Given the description of an element on the screen output the (x, y) to click on. 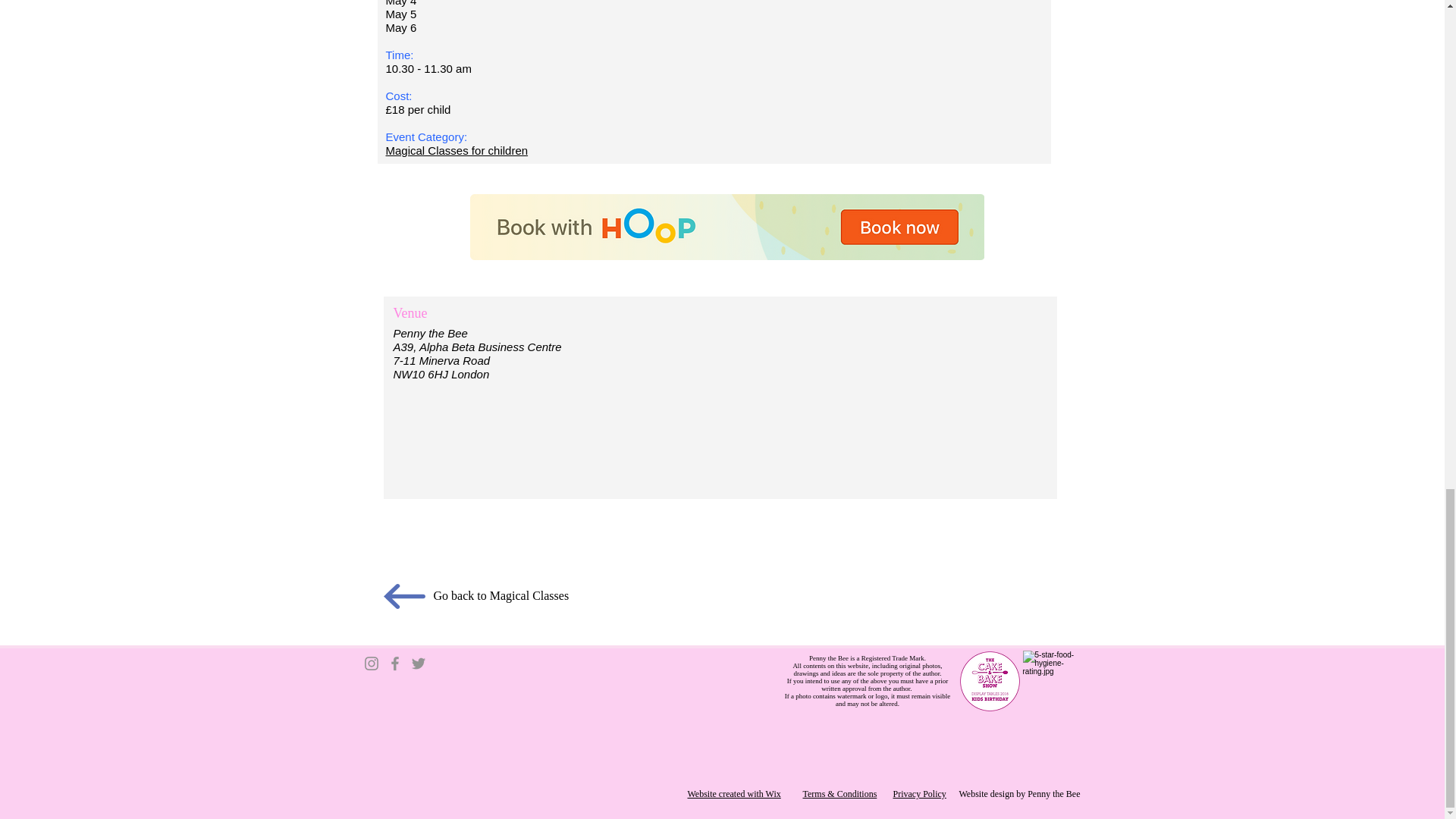
Privacy Policy (919, 793)
Magical Classes for children (456, 150)
Website created with Wix (733, 793)
